Given the description of an element on the screen output the (x, y) to click on. 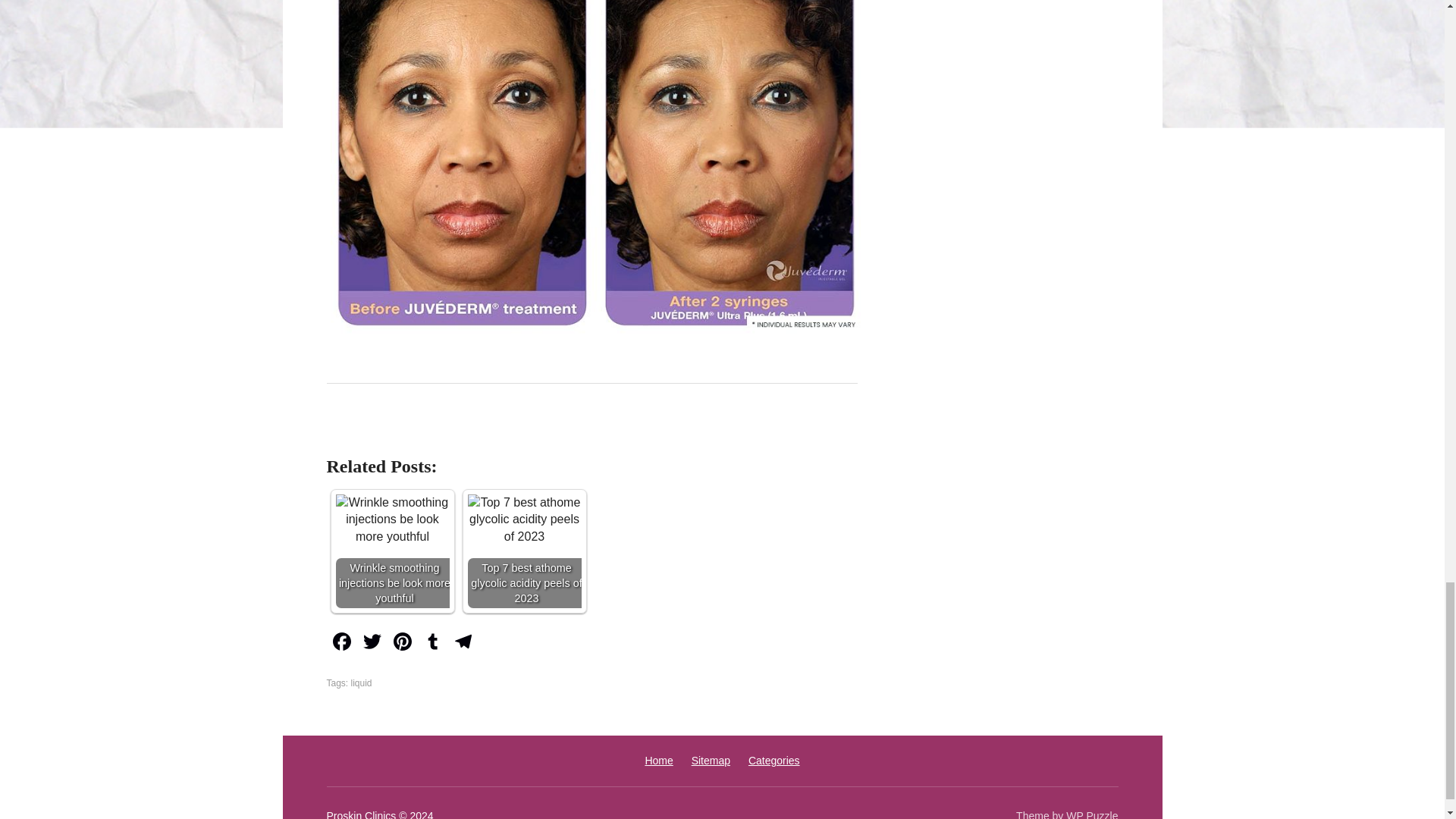
Telegram (461, 643)
Tumblr (431, 643)
Share in Facebook (341, 433)
Top 7 best athome glycolic acidity peels of 2023 (523, 551)
Twitter (371, 643)
Share in Twitter (492, 433)
Pinterest (401, 643)
Tumblr (431, 643)
Facebook (341, 643)
Share in OK (416, 433)
Telegram (461, 643)
Facebook (341, 643)
Share in VK (379, 433)
Wrinkle smoothing injections be look more youthful (391, 551)
